Given the description of an element on the screen output the (x, y) to click on. 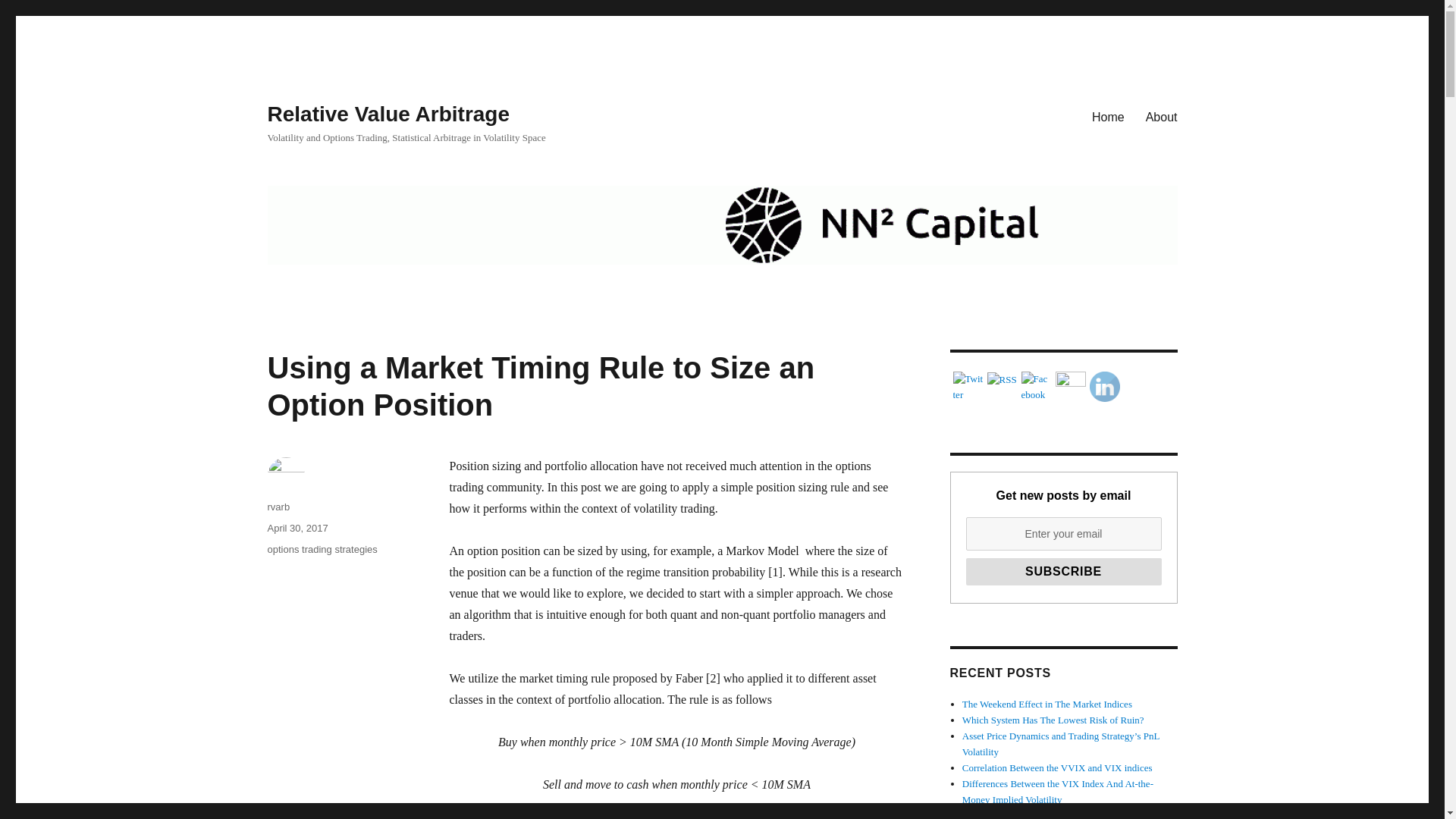
Home (1108, 116)
About (1161, 116)
Facebook (1035, 387)
options trading strategies (321, 549)
rvarb (277, 506)
Relative Value Arbitrage (387, 114)
Subscribe (1063, 571)
Twitter (967, 387)
April 30, 2017 (296, 527)
RSS (1001, 380)
